Given the description of an element on the screen output the (x, y) to click on. 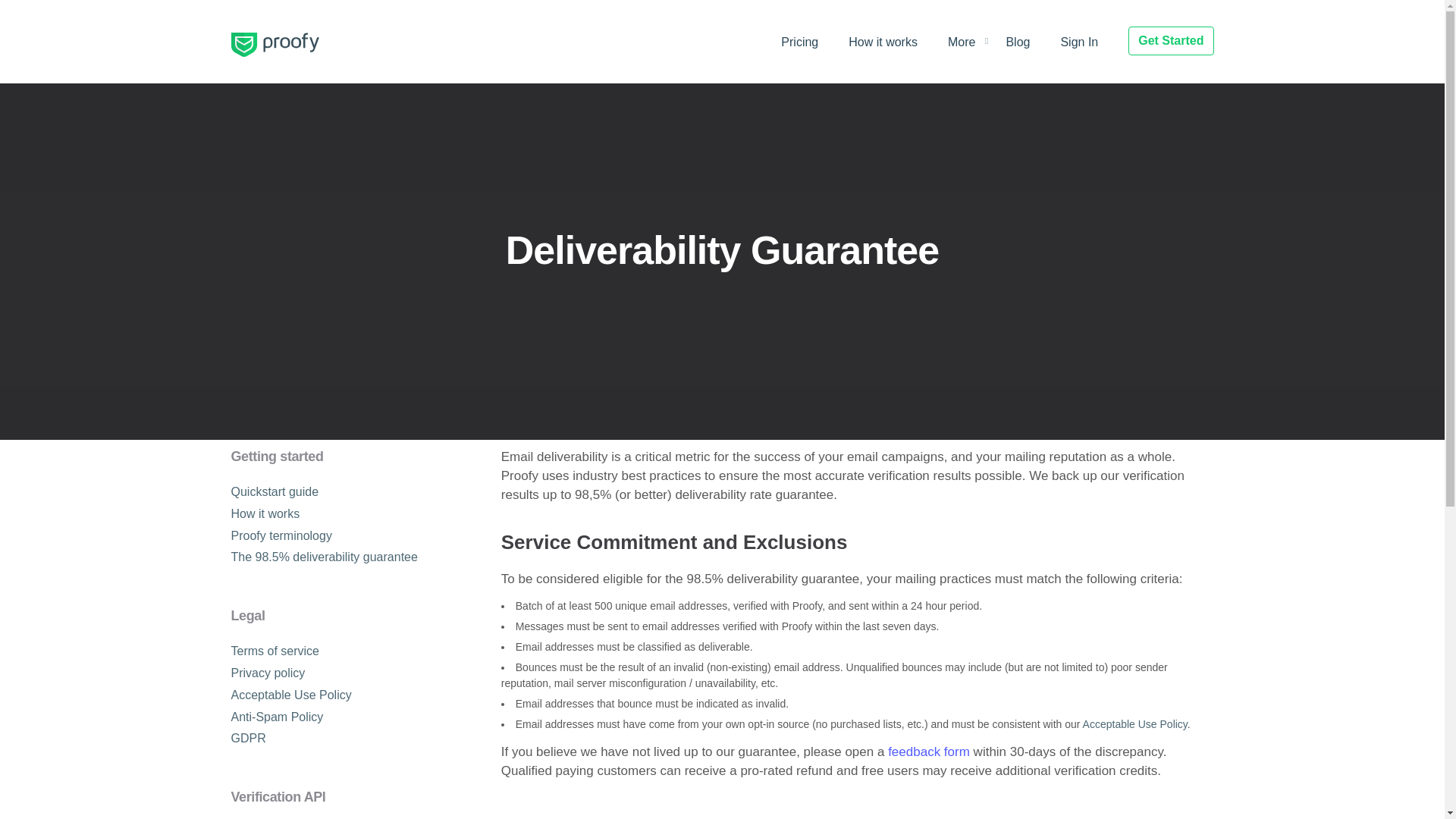
GDPR (247, 738)
Terms of service (274, 650)
Quickstart guide (274, 491)
How it works (882, 41)
Acceptable Use Policy (290, 694)
More (961, 41)
Anti-Spam Policy (276, 716)
Proofy terminology (280, 535)
How it works (264, 513)
Privacy policy (267, 672)
